Given the description of an element on the screen output the (x, y) to click on. 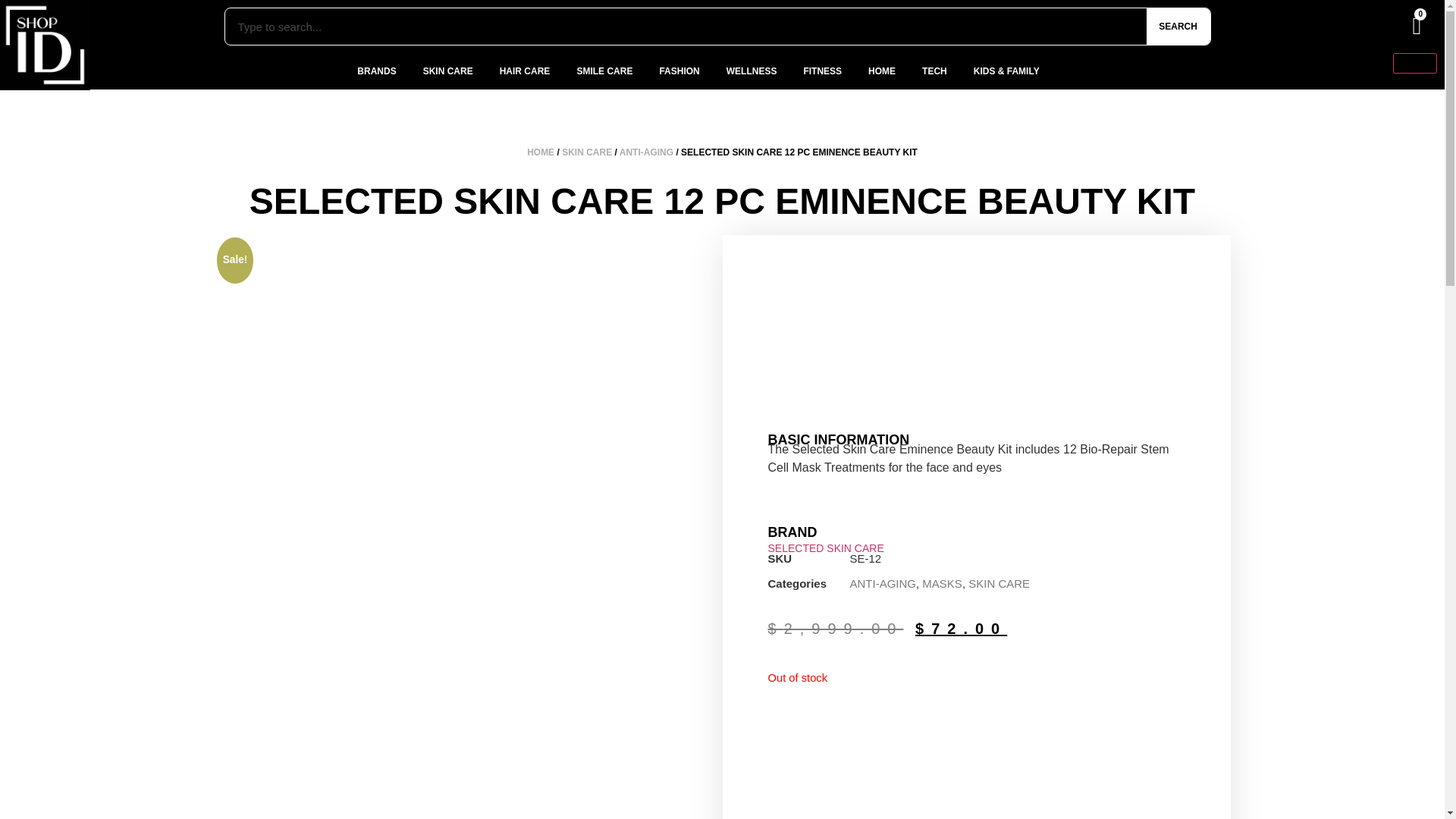
BRANDS (378, 71)
SEARCH (1178, 26)
